Given the description of an element on the screen output the (x, y) to click on. 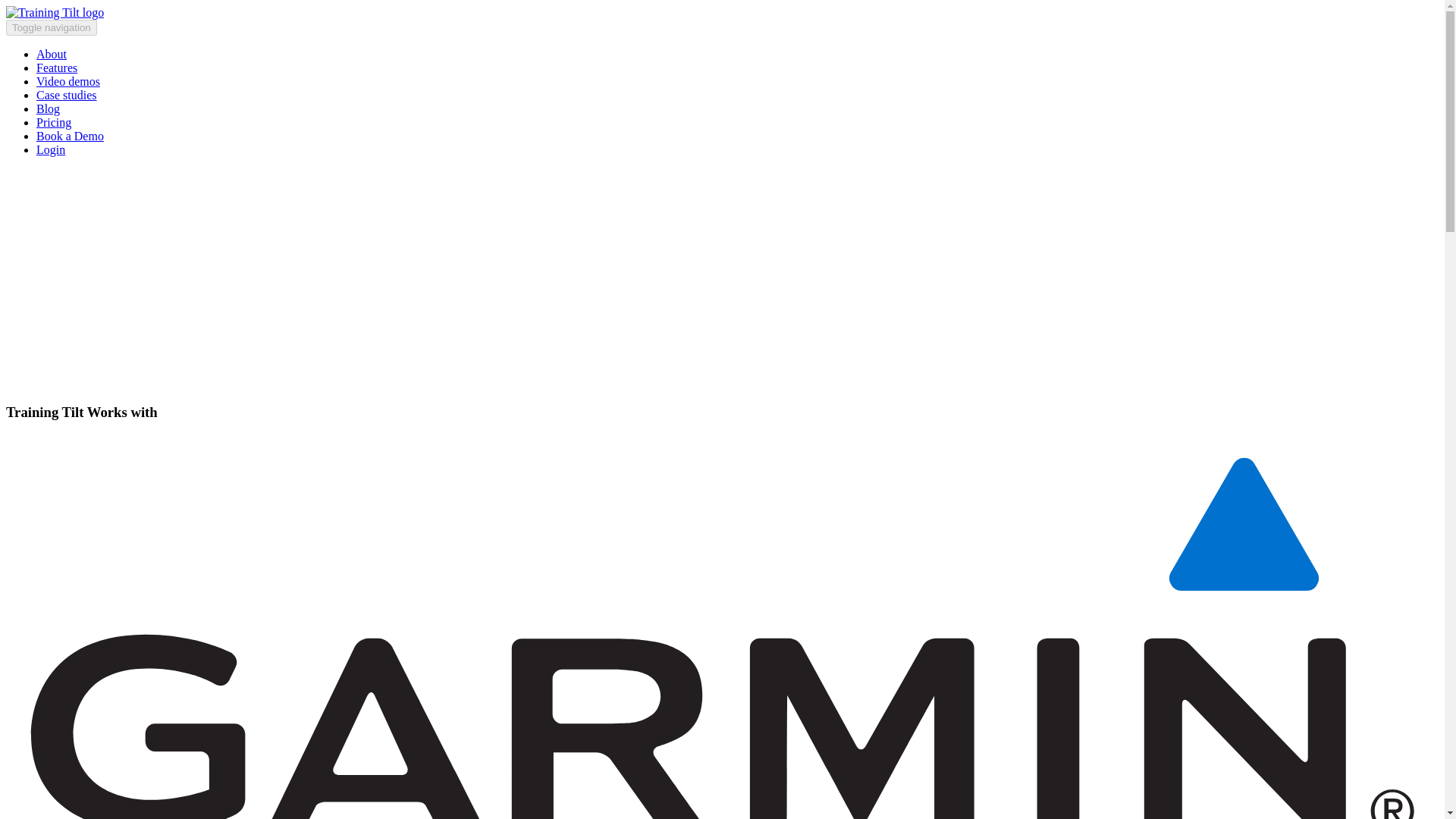
Features (56, 67)
Book a Demo (69, 135)
About (51, 53)
Case studies (66, 94)
Pricing (53, 122)
Toggle navigation (51, 27)
Video demos (68, 81)
Login (50, 149)
Blog (47, 108)
Start Learning (43, 356)
